Given the description of an element on the screen output the (x, y) to click on. 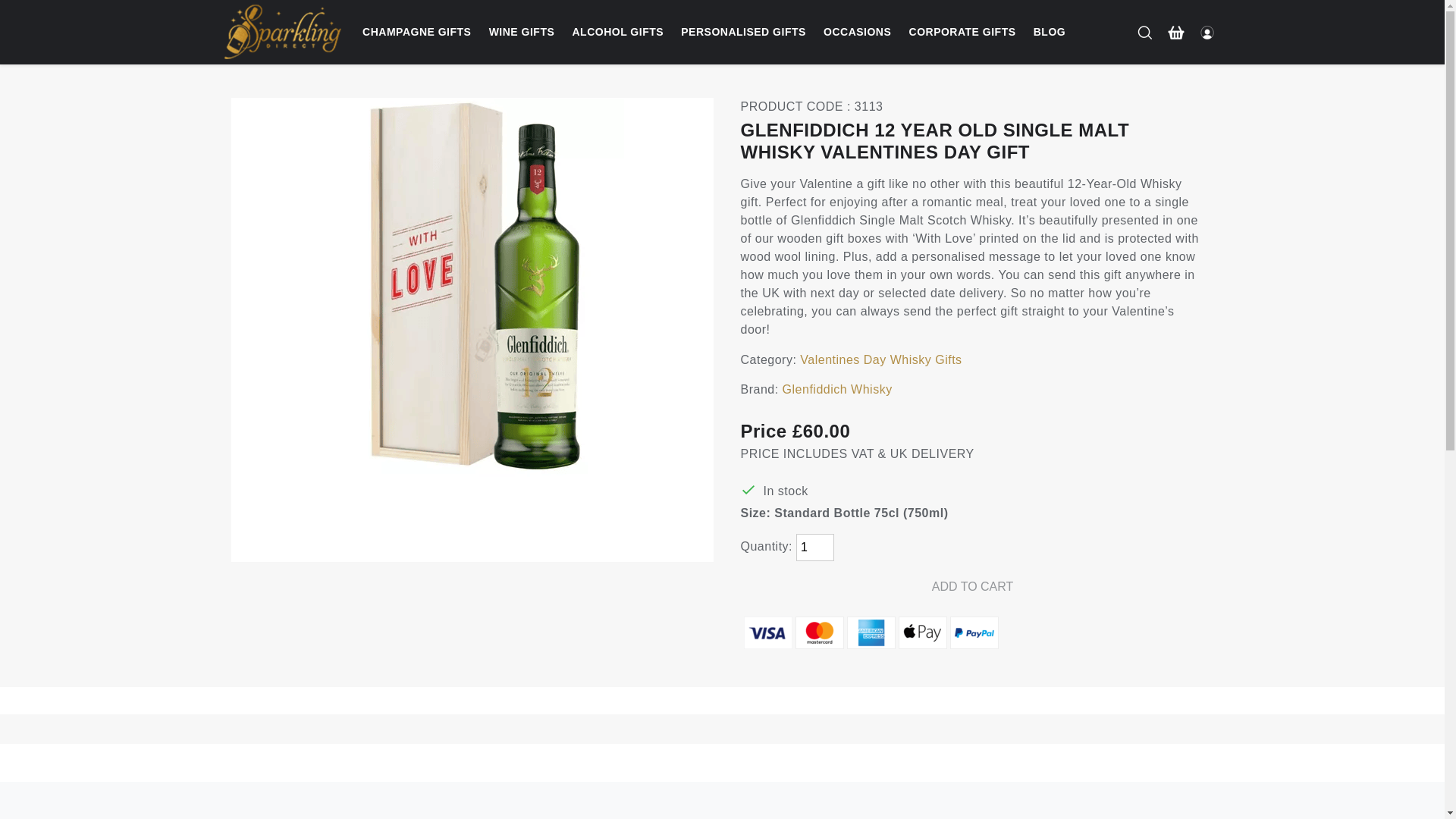
PERSONALISED GIFTS (743, 31)
ADD TO CART (971, 586)
WINE GIFTS (521, 31)
CHAMPAGNE GIFTS (417, 31)
OCCASIONS (856, 31)
ALCOHOL GIFTS (617, 31)
Valentines Day Gifts - Valentines Day Delivery (345, 19)
1 (815, 547)
